Given the description of an element on the screen output the (x, y) to click on. 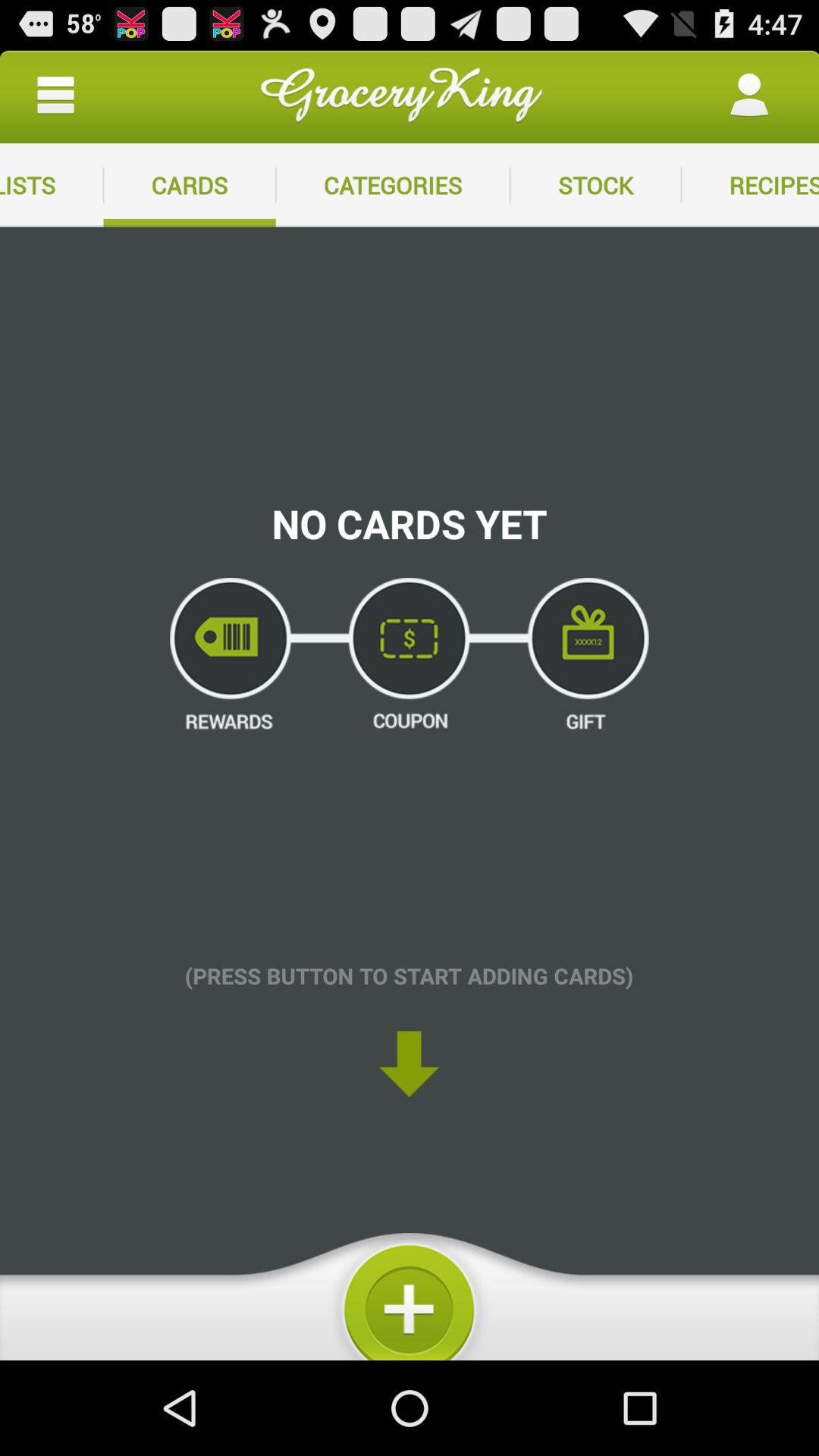
choose the icon next to the cards icon (51, 184)
